Given the description of an element on the screen output the (x, y) to click on. 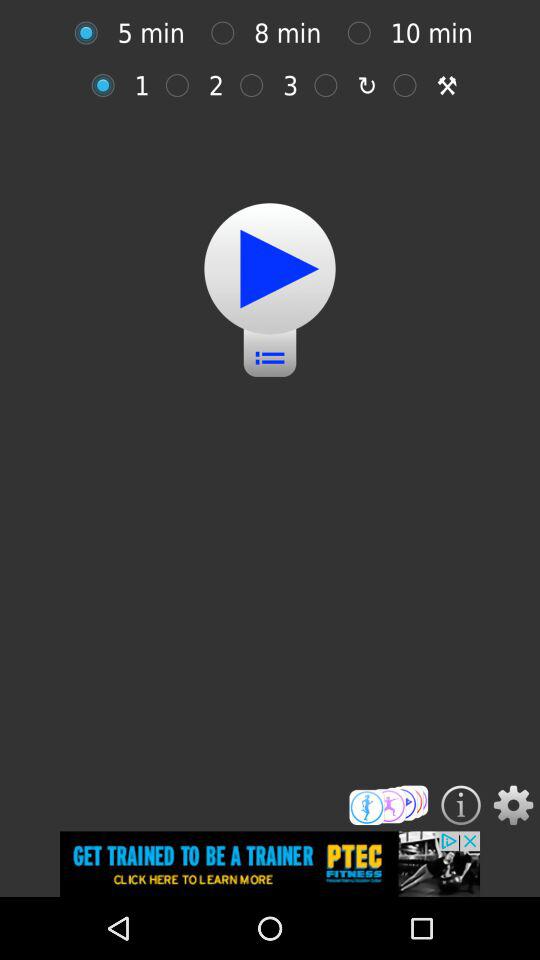
information page (460, 805)
